Given the description of an element on the screen output the (x, y) to click on. 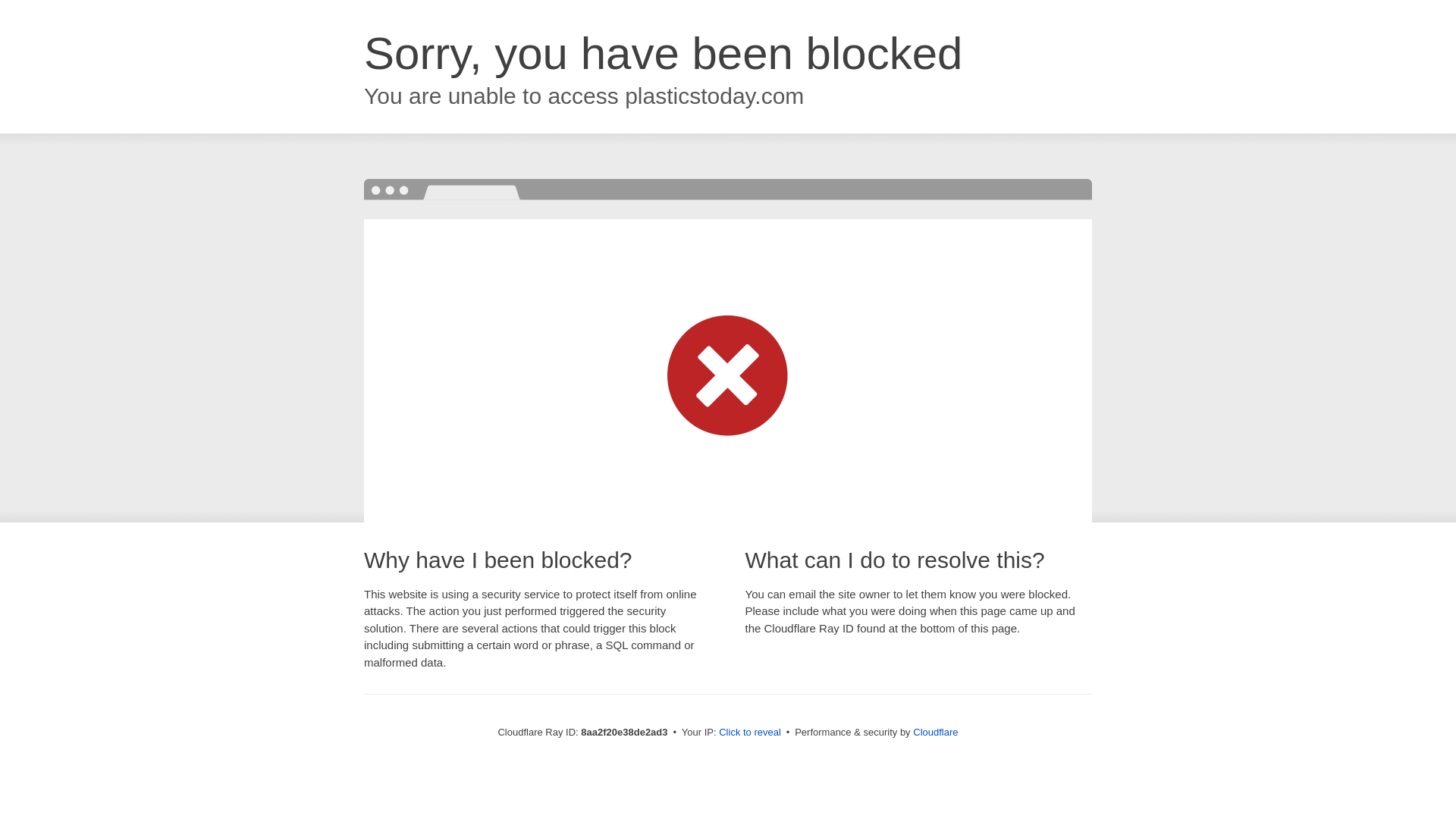
Click to reveal (749, 732)
Cloudflare (935, 731)
